Given the description of an element on the screen output the (x, y) to click on. 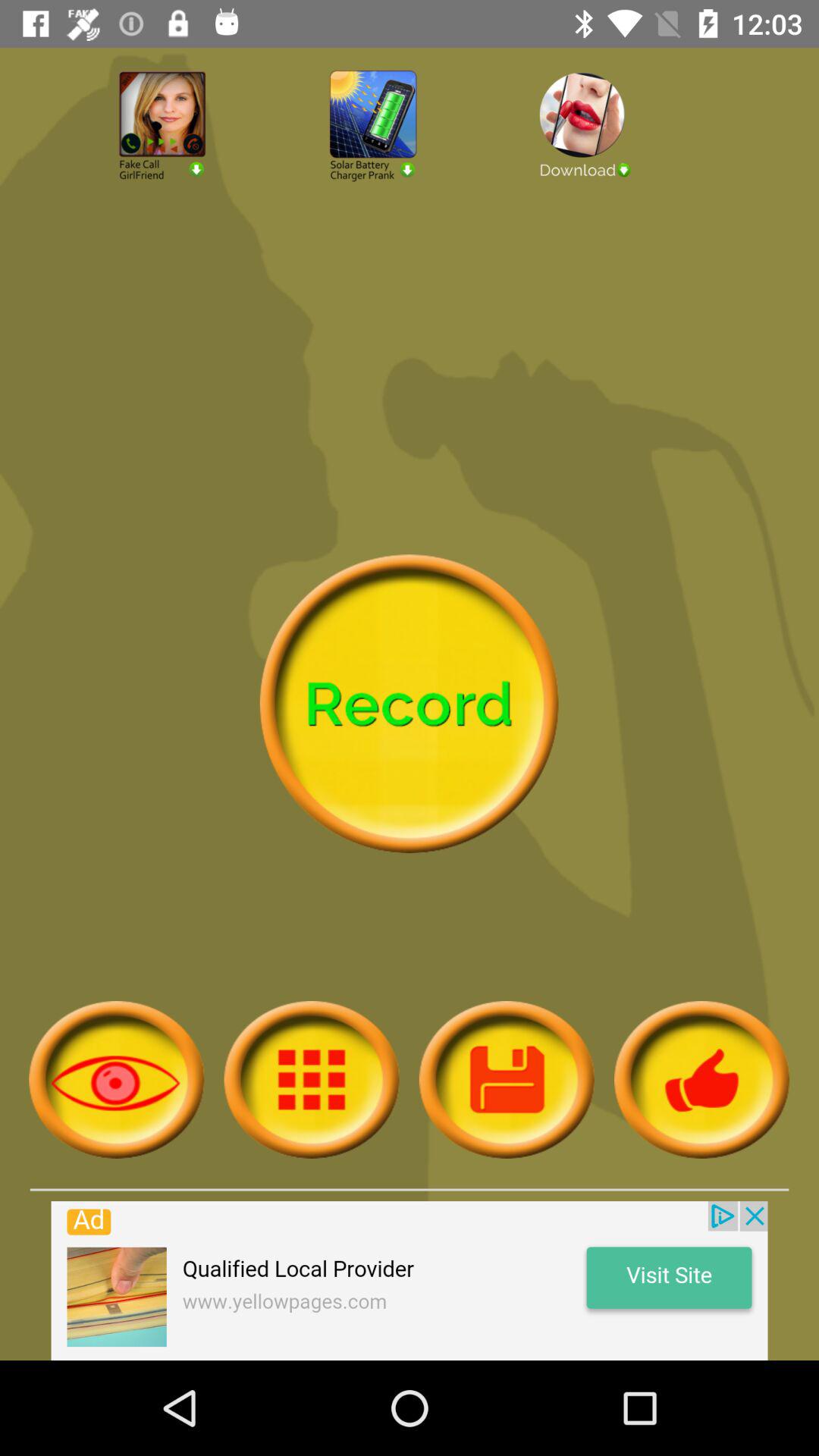
like button (701, 1079)
